Given the description of an element on the screen output the (x, y) to click on. 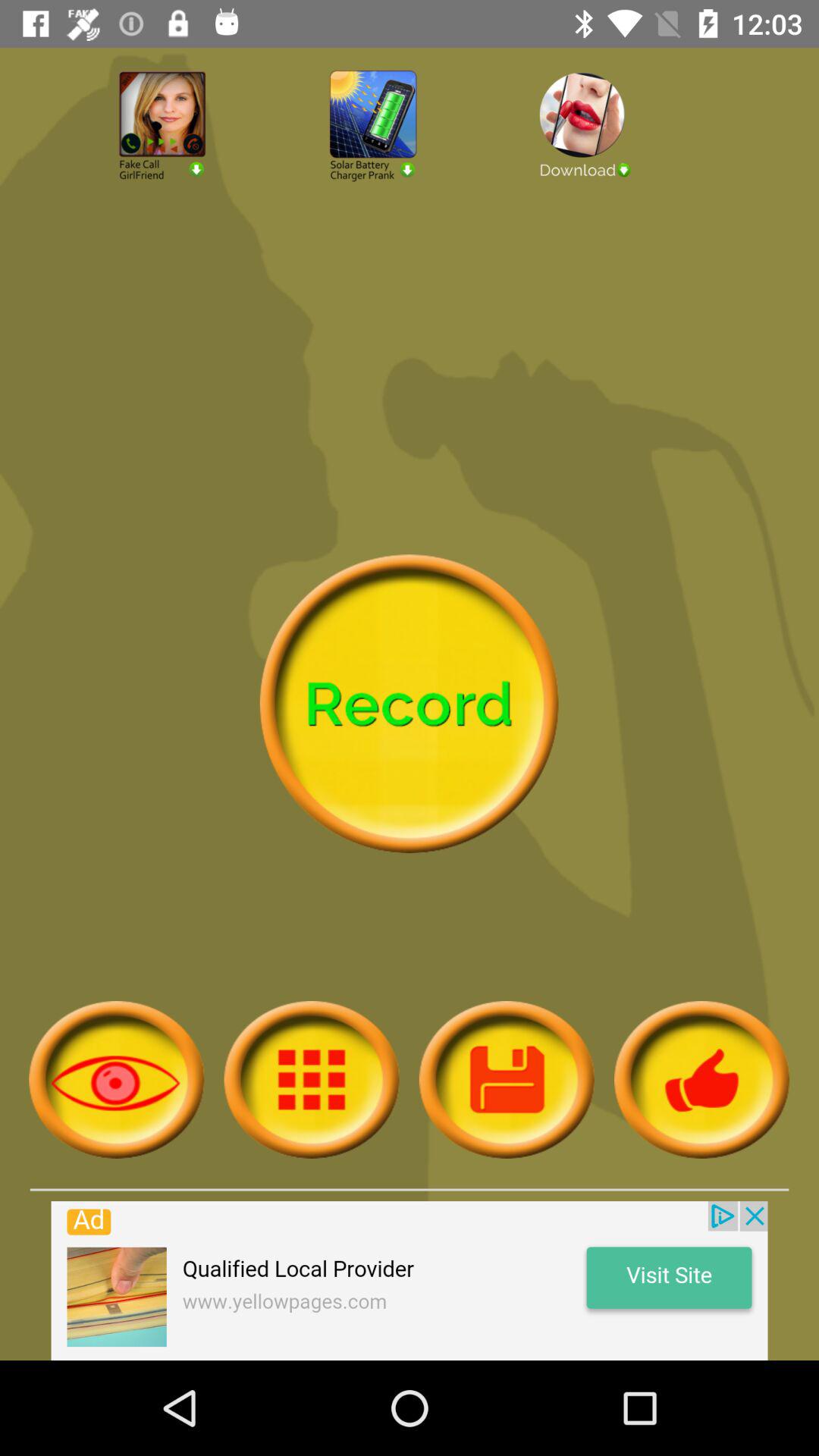
like button (701, 1079)
